Given the description of an element on the screen output the (x, y) to click on. 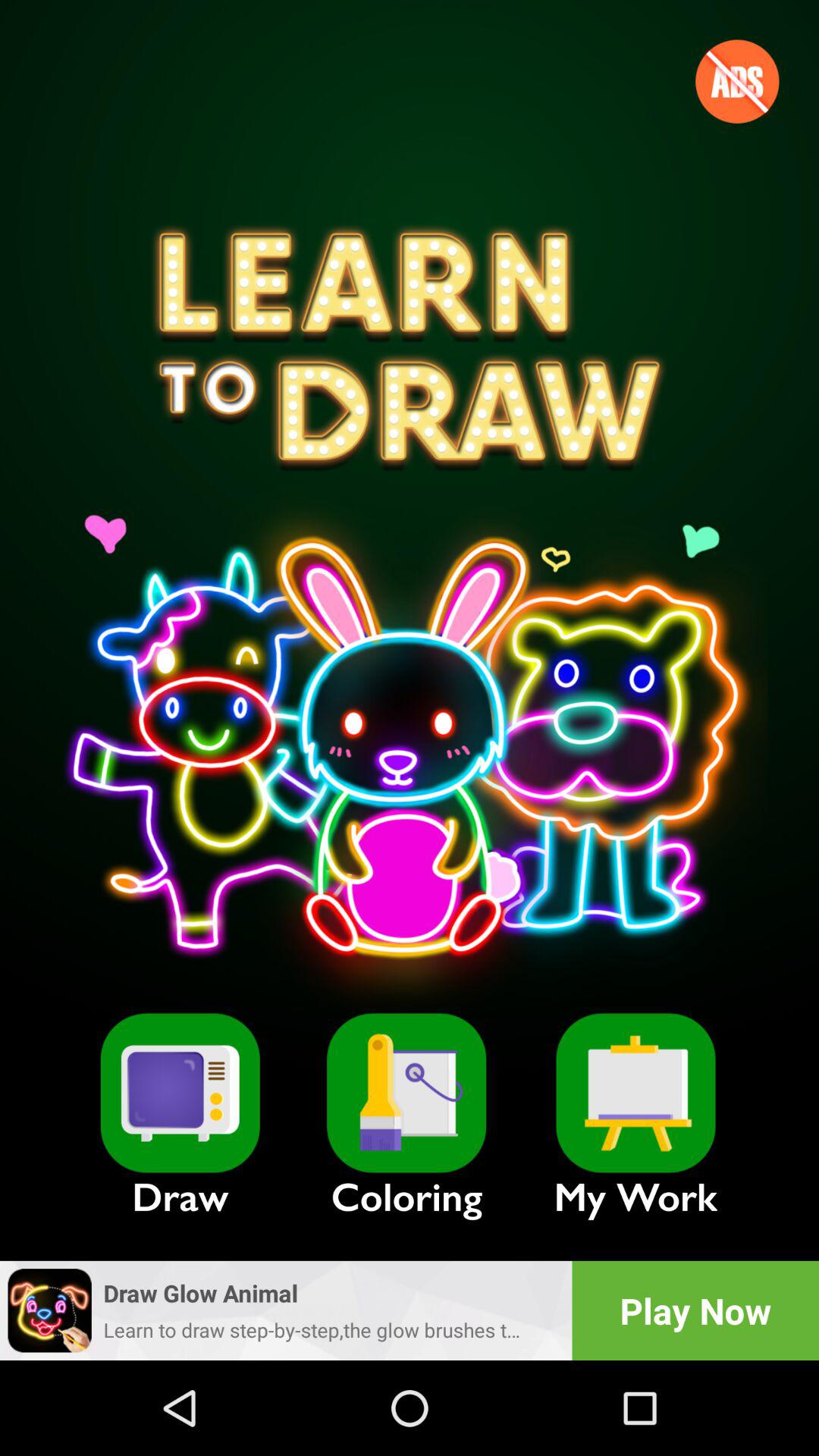
erase the image (406, 1092)
